Given the description of an element on the screen output the (x, y) to click on. 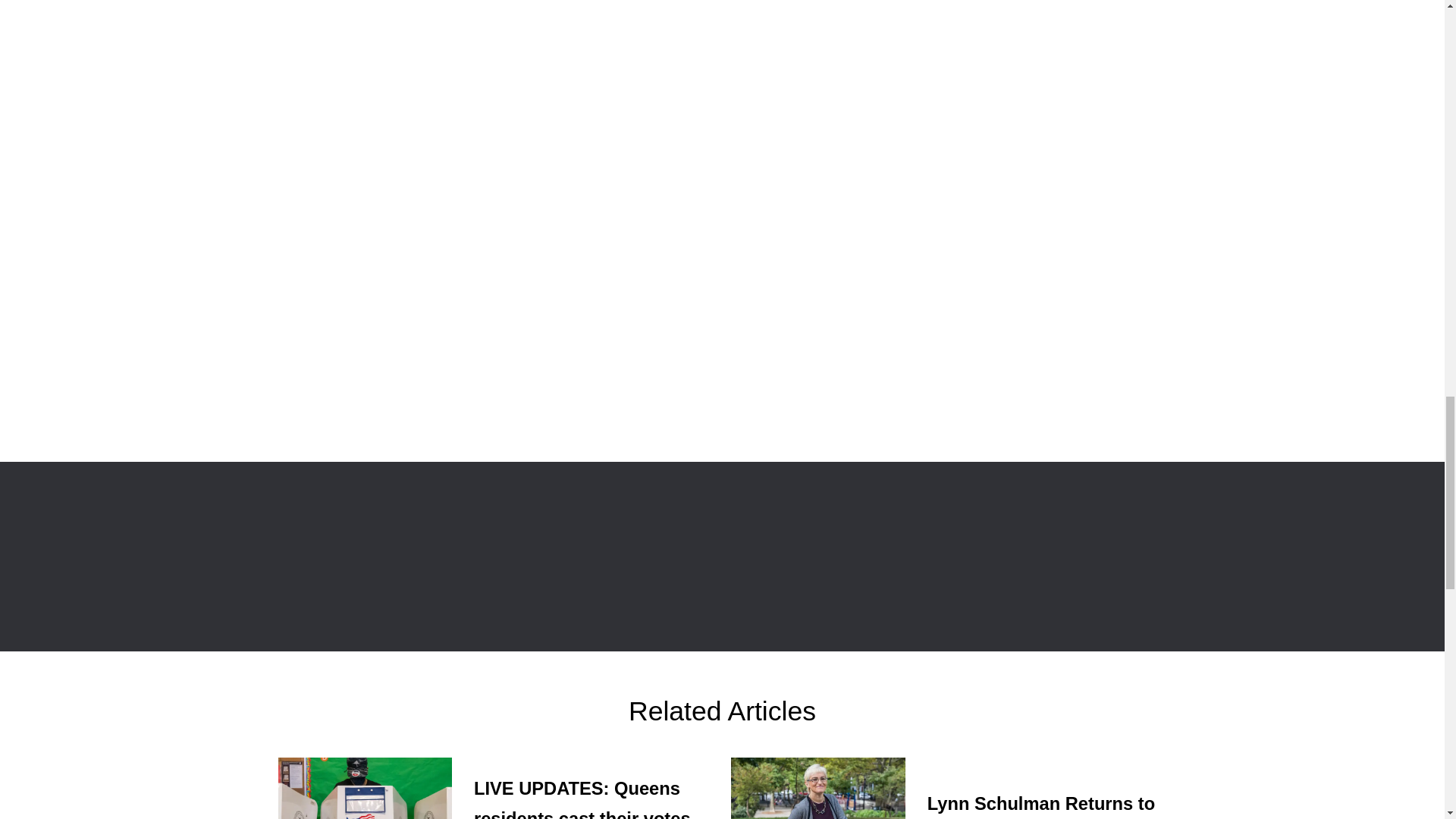
3rd party ad content (1052, 94)
3rd party ad content (1052, 321)
